Given the description of an element on the screen output the (x, y) to click on. 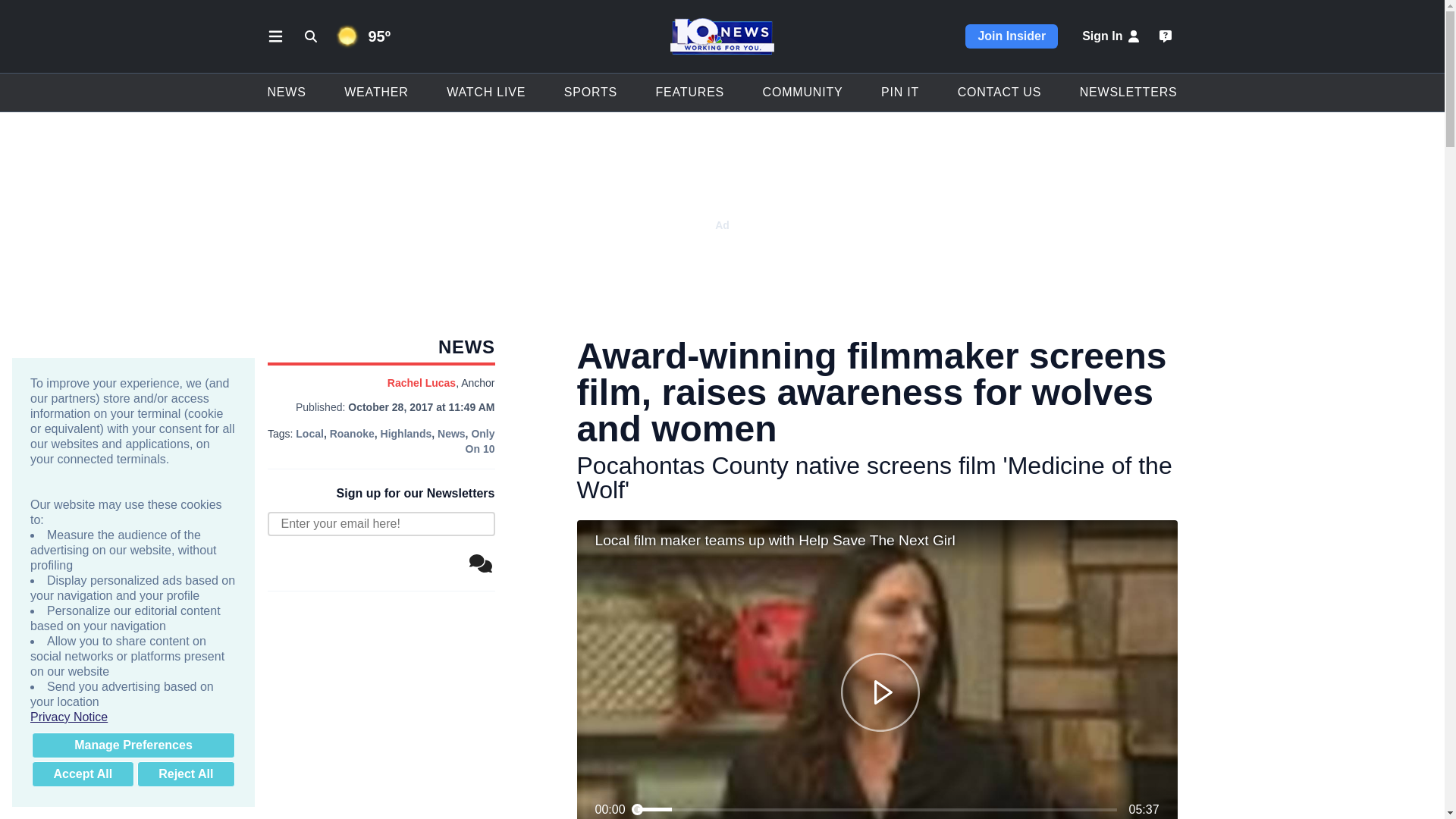
Accept All (82, 774)
Privacy Notice (132, 717)
Reject All (185, 774)
Sign In (1111, 36)
Join Insider (1011, 36)
Manage Preferences (133, 745)
